Given the description of an element on the screen output the (x, y) to click on. 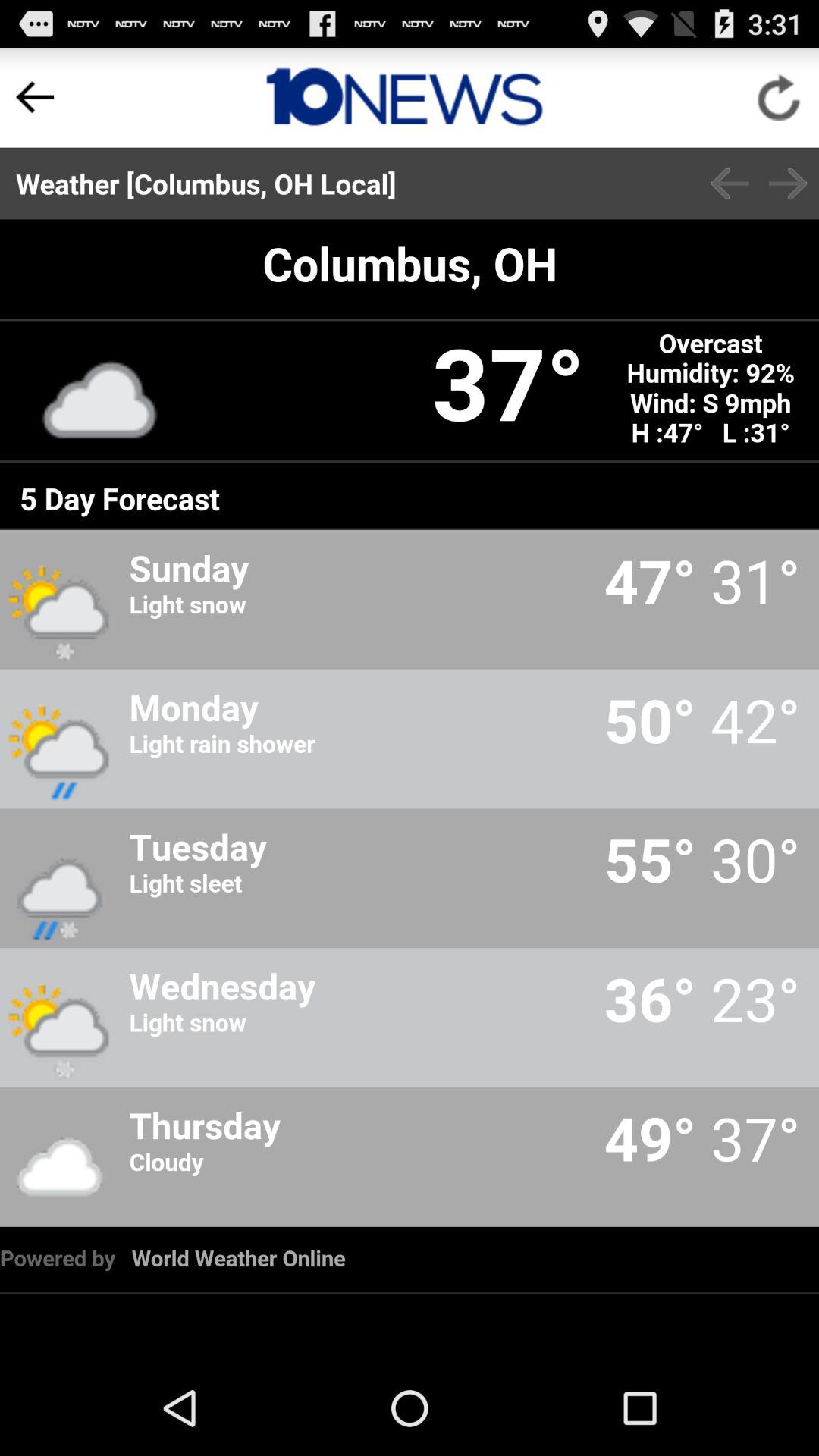
click reload option (779, 97)
